Given the description of an element on the screen output the (x, y) to click on. 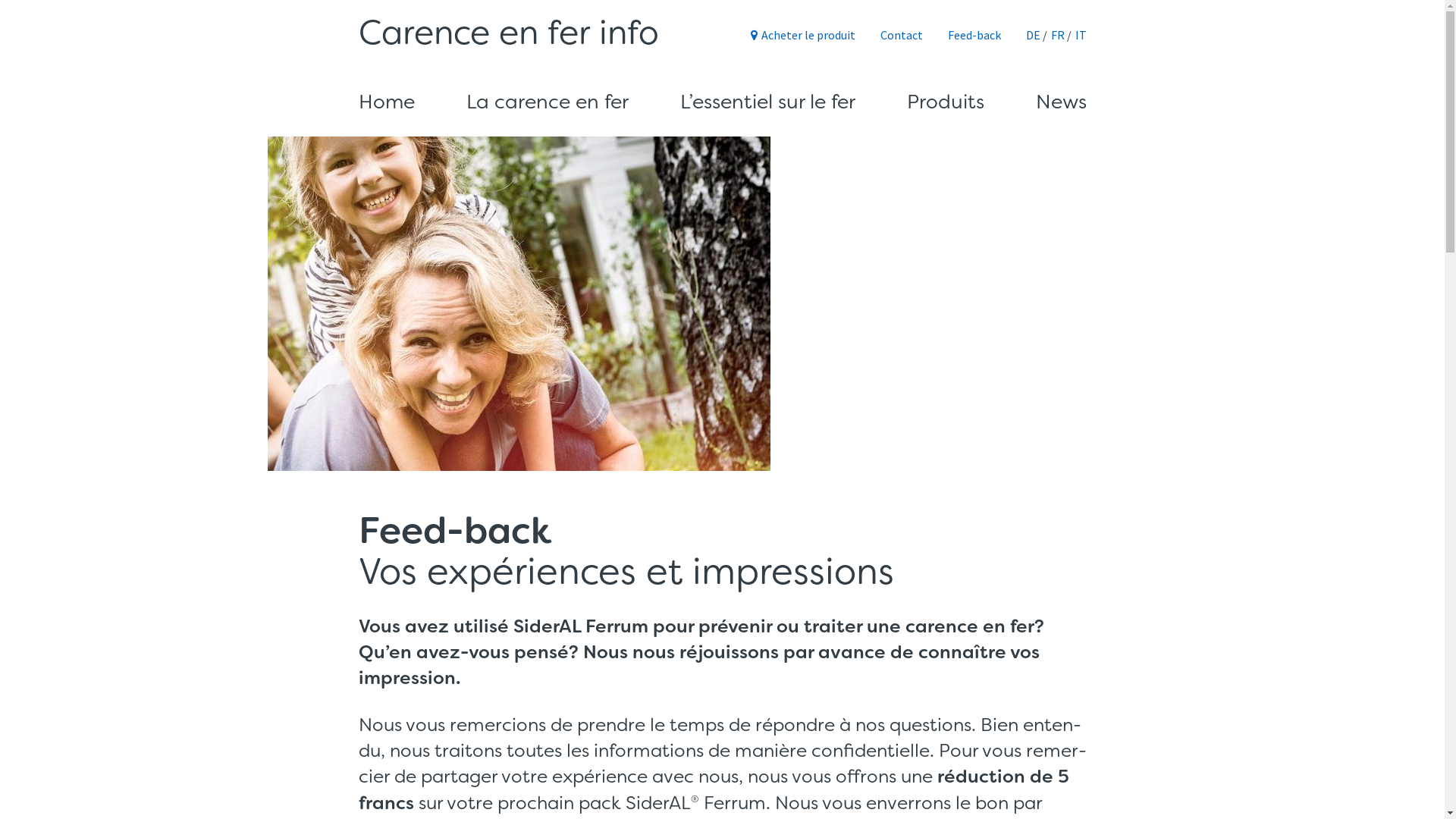
Feed-back Element type: text (974, 34)
Carence en fer info Element type: text (507, 32)
DE Element type: text (1032, 34)
IT Element type: text (1080, 34)
FR Element type: text (1057, 34)
Home Element type: text (385, 101)
Produits Element type: text (945, 101)
Acheter le produit Element type: text (802, 34)
News Element type: text (1060, 101)
La carence en fer Element type: text (546, 101)
Contact Element type: text (900, 34)
